Given the description of an element on the screen output the (x, y) to click on. 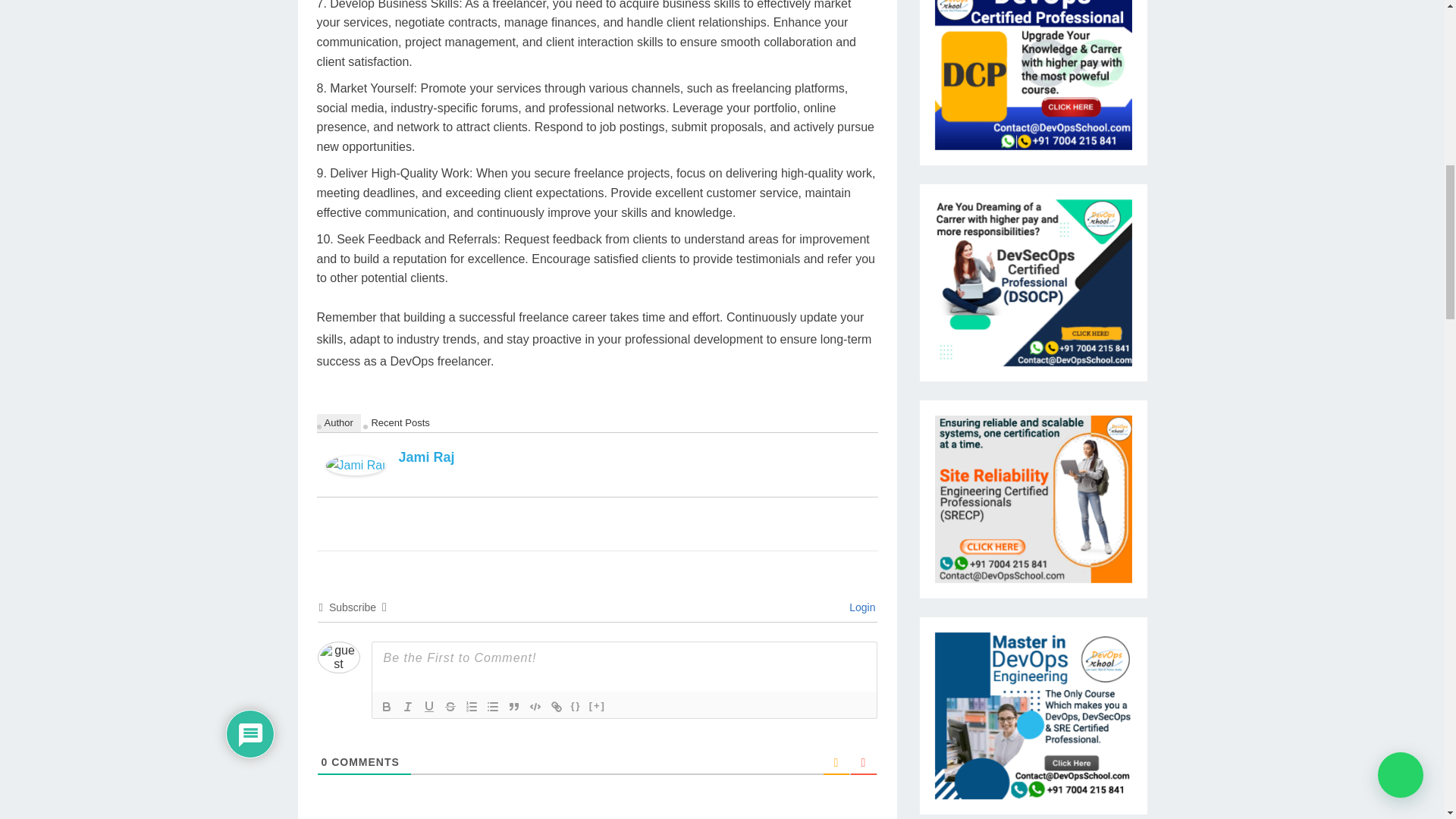
Link (556, 706)
Jami Raj (426, 457)
Underline (429, 706)
Ordered List (471, 706)
Spoiler (597, 706)
Recent Posts (399, 423)
Source Code (576, 706)
Italic (408, 706)
Code Block (535, 706)
Unordered List (492, 706)
Jami Raj (355, 471)
Login (859, 607)
Blockquote (513, 706)
Strike (450, 706)
Bold (386, 706)
